Given the description of an element on the screen output the (x, y) to click on. 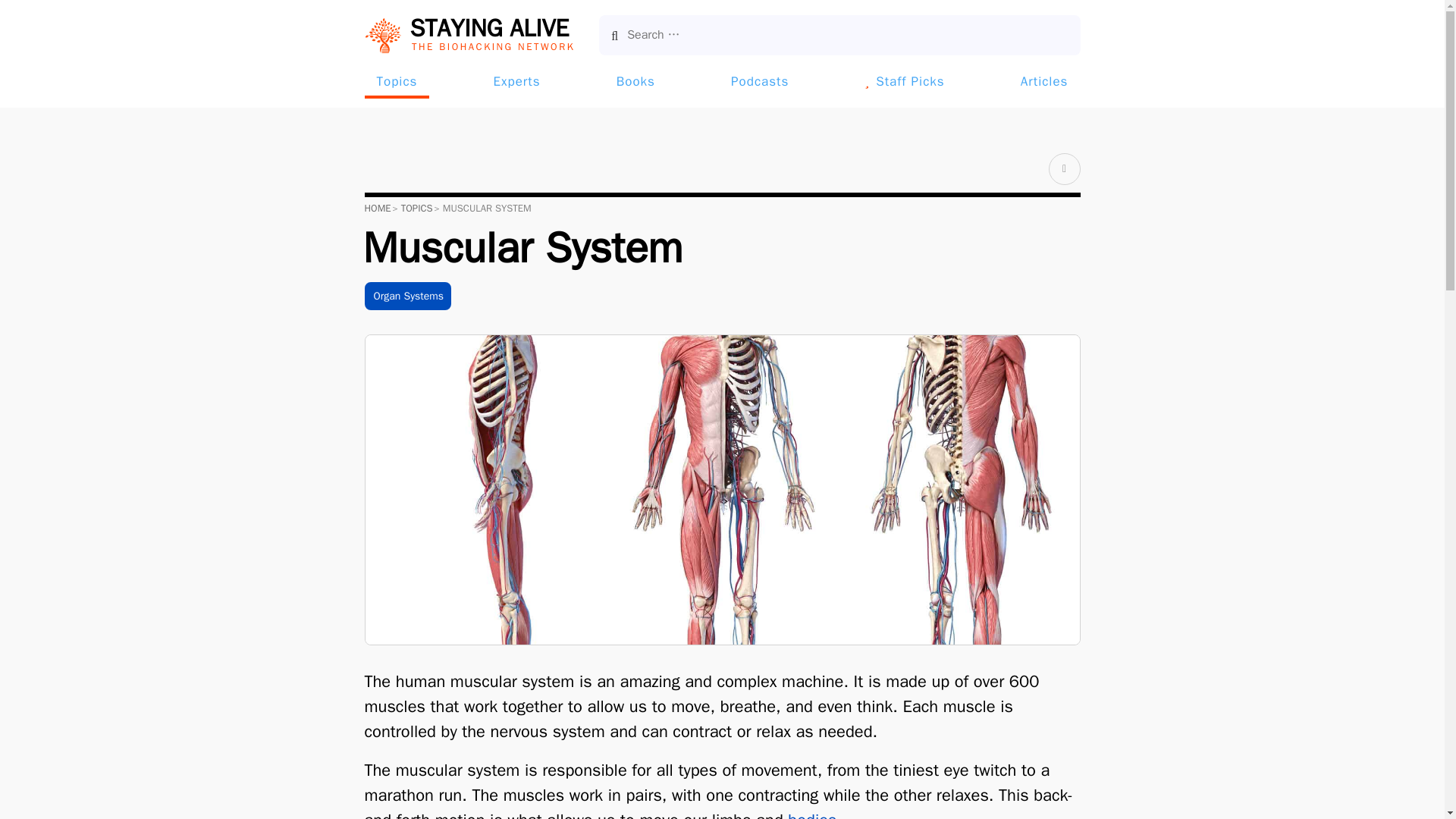
Books (635, 81)
Search for: (839, 34)
bodies (811, 814)
Topics (396, 81)
Organ Systems (407, 295)
HOME (377, 207)
Staff Picks (903, 81)
TOPICS (416, 207)
Experts (517, 81)
Articles (1044, 81)
Podcasts (469, 34)
